Given the description of an element on the screen output the (x, y) to click on. 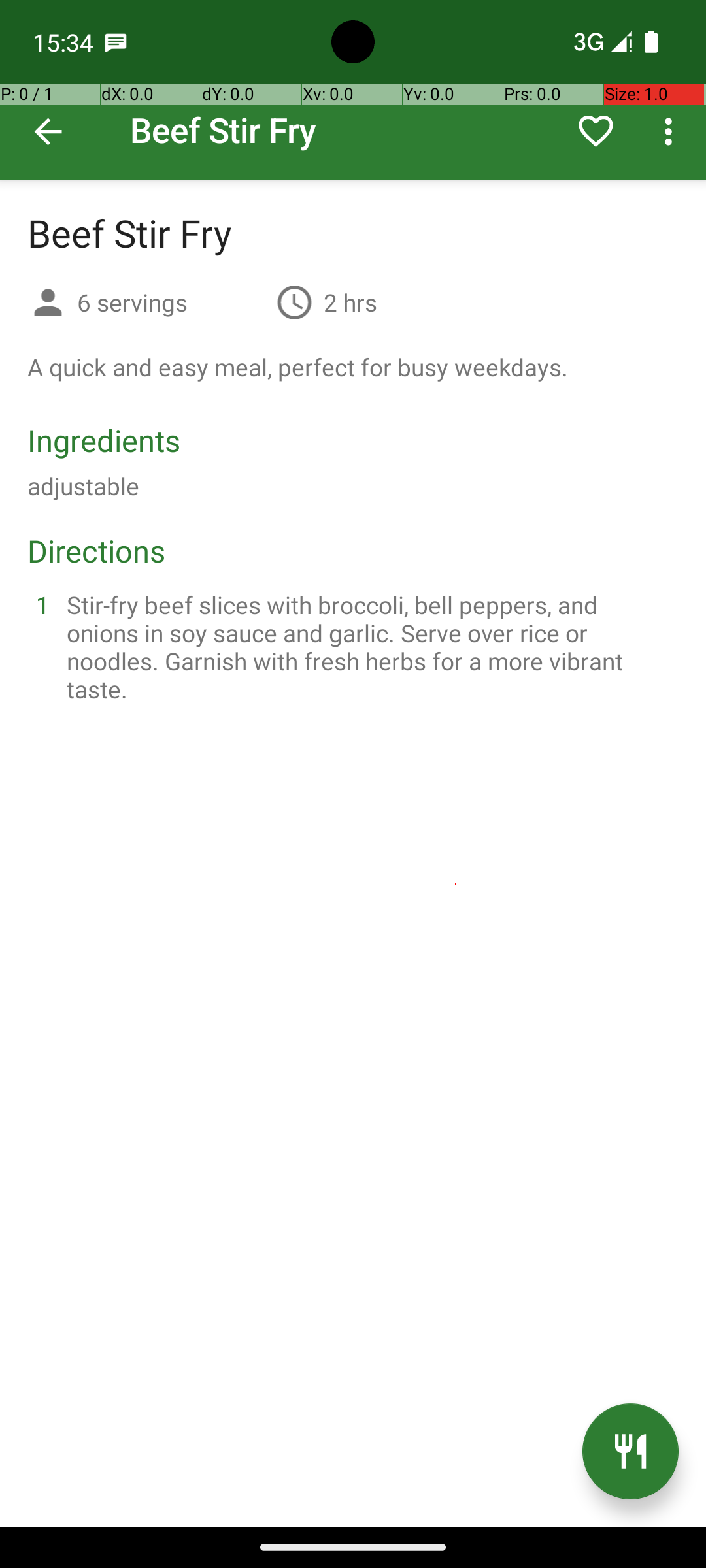
Beef Stir Fry Element type: android.widget.FrameLayout (353, 89)
6 servings Element type: android.widget.TextView (170, 301)
2 hrs Element type: android.widget.TextView (350, 301)
adjustable Element type: android.widget.TextView (83, 485)
Stir-fry beef slices with broccoli, bell peppers, and onions in soy sauce and garlic. Serve over rice or noodles. Garnish with fresh herbs for a more vibrant taste. Element type: android.widget.TextView (368, 646)
